Given the description of an element on the screen output the (x, y) to click on. 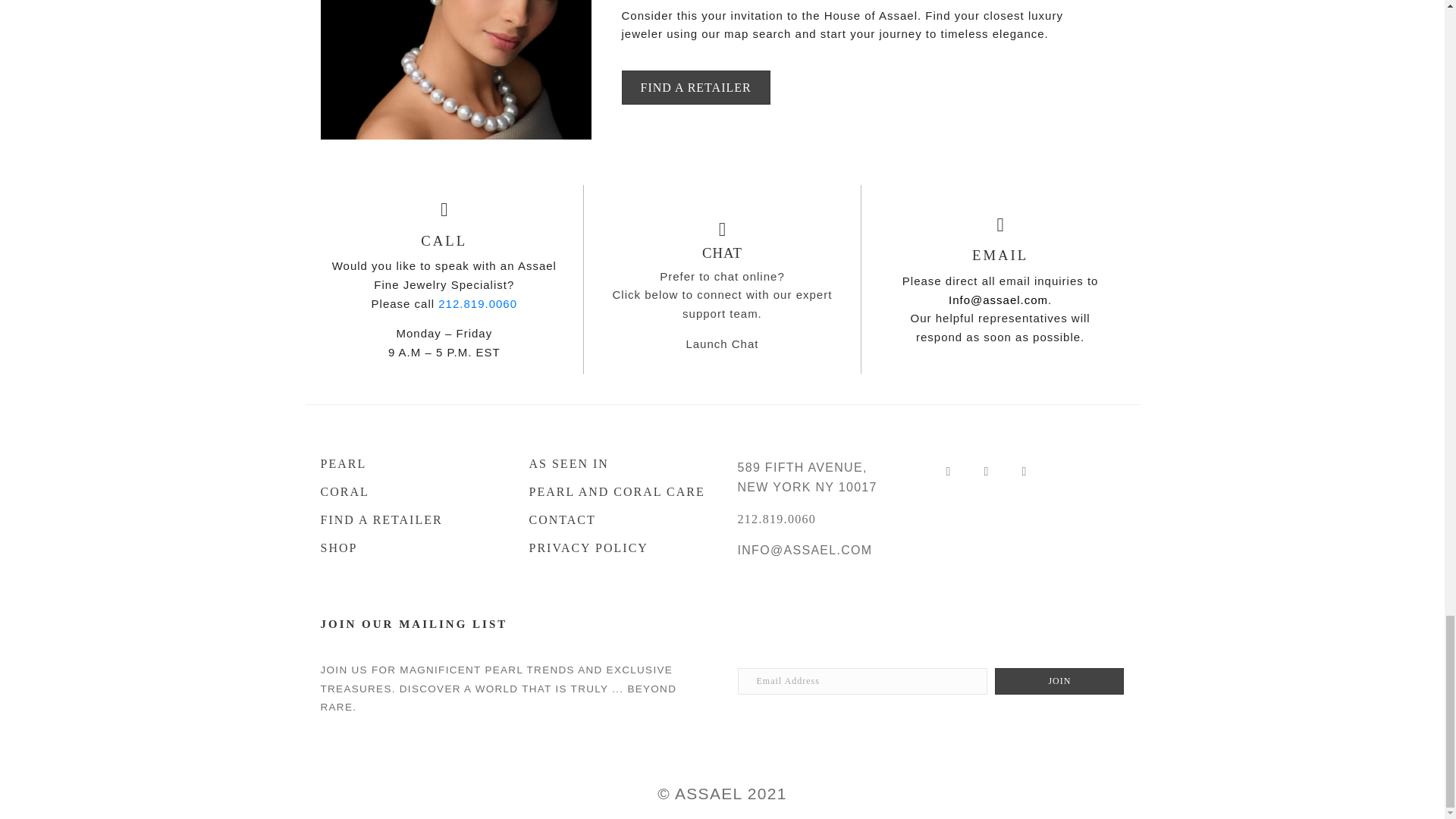
PRIVACY POLICY (618, 540)
PEARL (408, 456)
CONTACT (618, 512)
212.819.0060 (775, 518)
AS SEEN IN (618, 456)
FIND A RETAILER (408, 512)
SHOP (408, 540)
Classic Assael (455, 69)
212.819.0060 (477, 302)
Launch Chat (721, 343)
PEARL AND CORAL CARE (618, 483)
CORAL (408, 483)
FIND A RETAILER (695, 87)
